Given the description of an element on the screen output the (x, y) to click on. 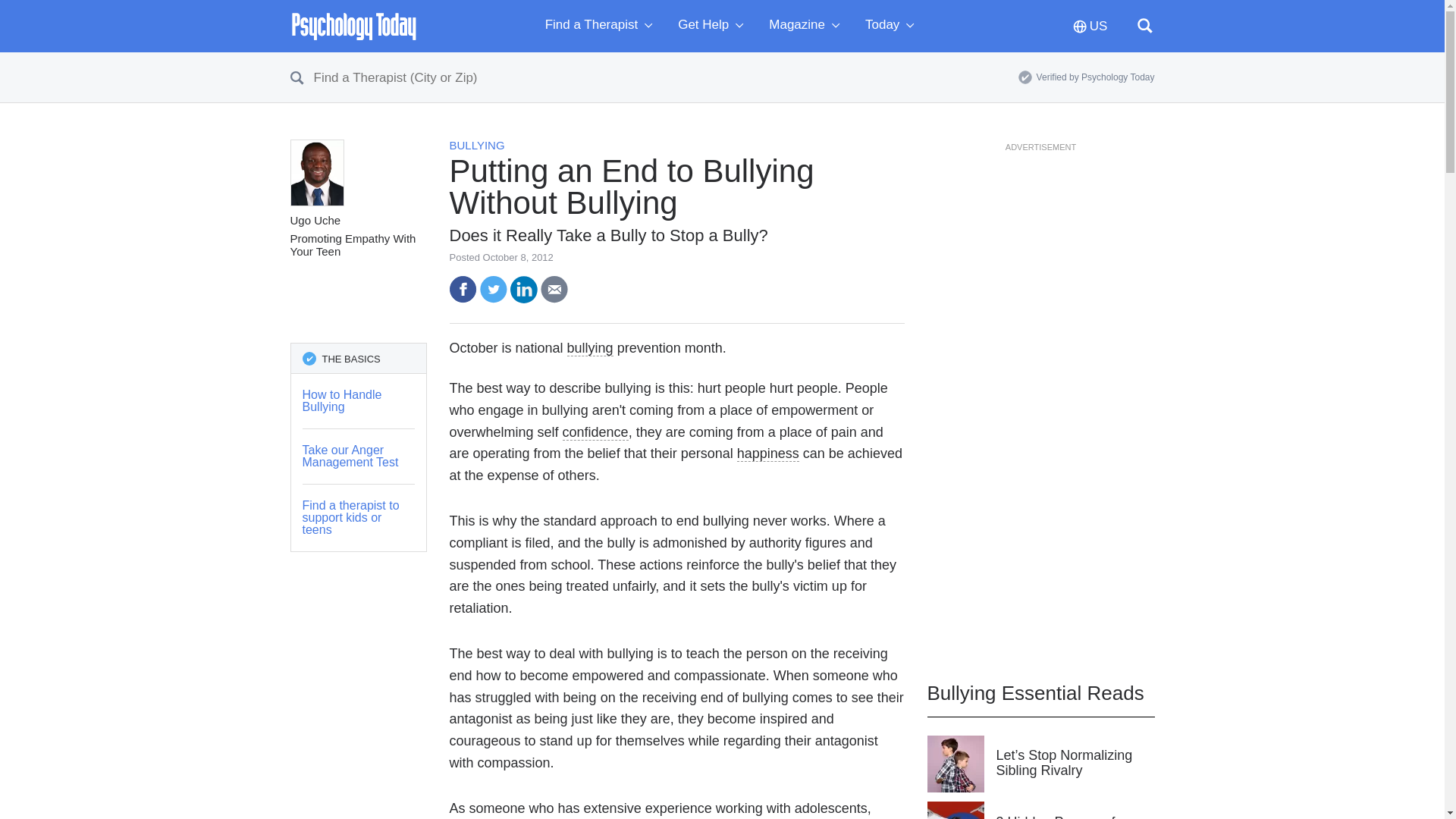
Get Help (714, 25)
Psychology Today (352, 25)
Find a Therapist (602, 25)
